Given the description of an element on the screen output the (x, y) to click on. 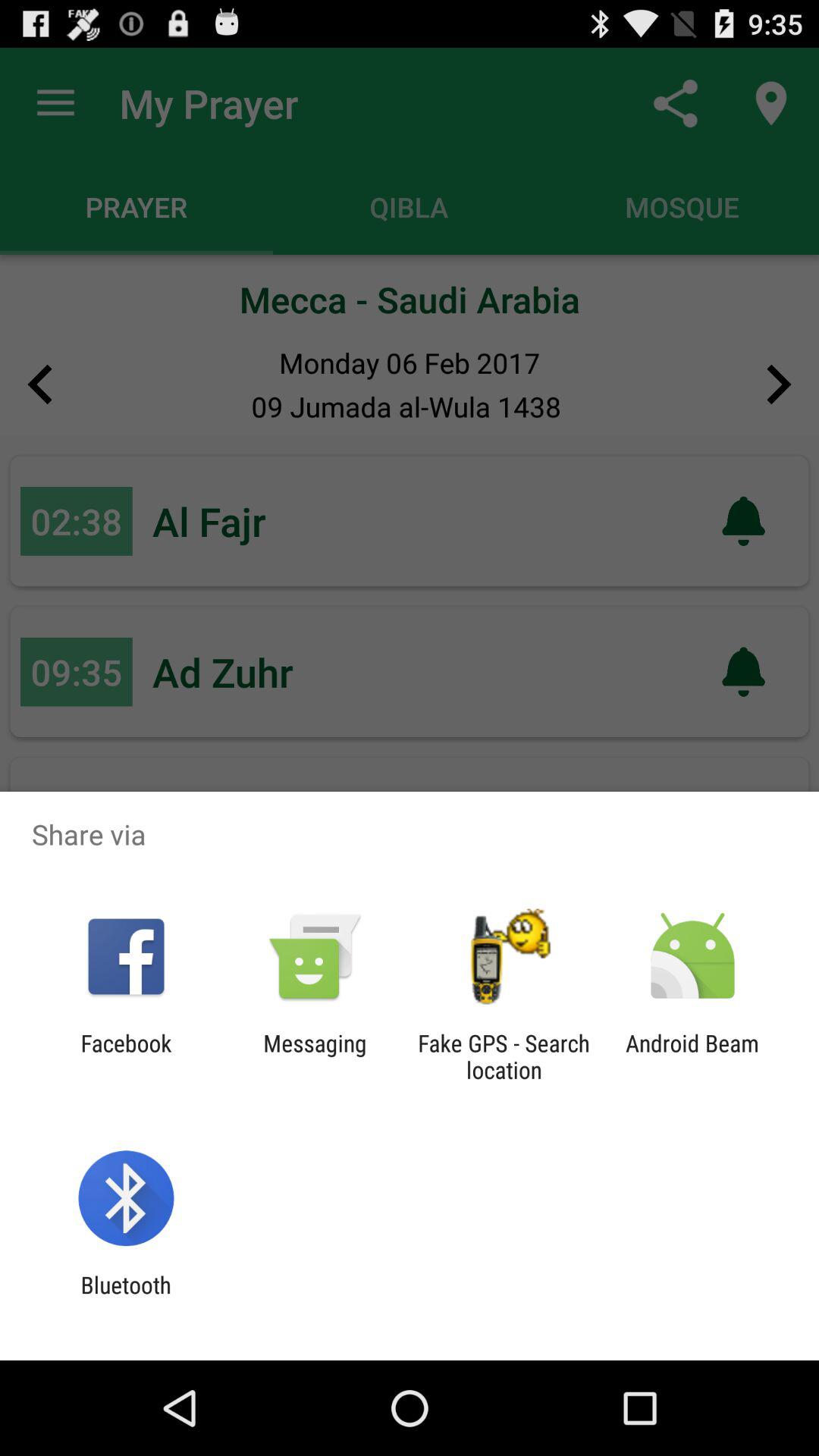
select bluetooth item (125, 1298)
